Given the description of an element on the screen output the (x, y) to click on. 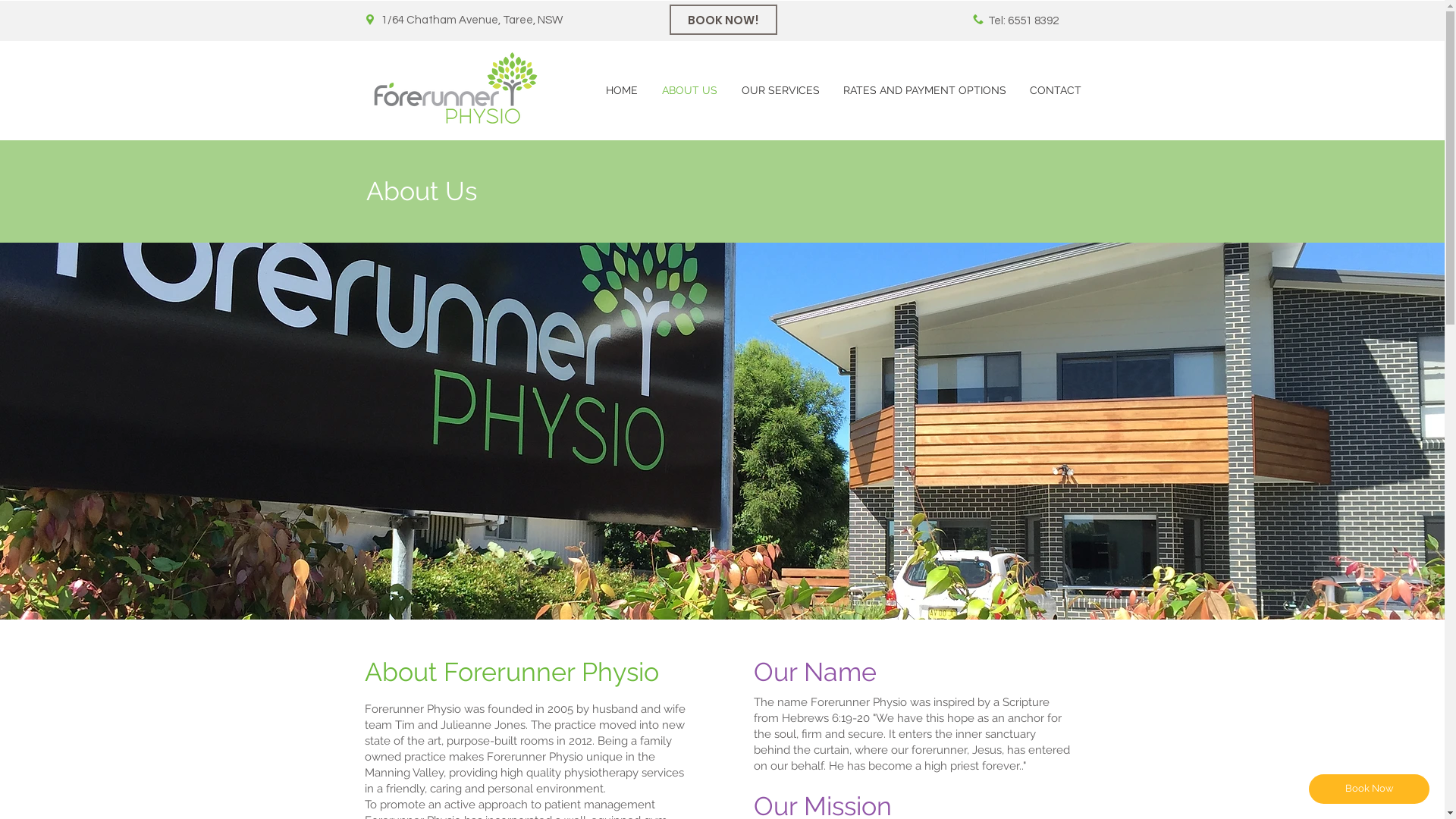
BOOK NOW! Element type: text (722, 19)
Book Now Element type: text (1368, 788)
OUR SERVICES Element type: text (780, 90)
ABOUT US Element type: text (688, 90)
CONTACT Element type: text (1054, 90)
HOME Element type: text (621, 90)
RATES AND PAYMENT OPTIONS Element type: text (924, 90)
